Given the description of an element on the screen output the (x, y) to click on. 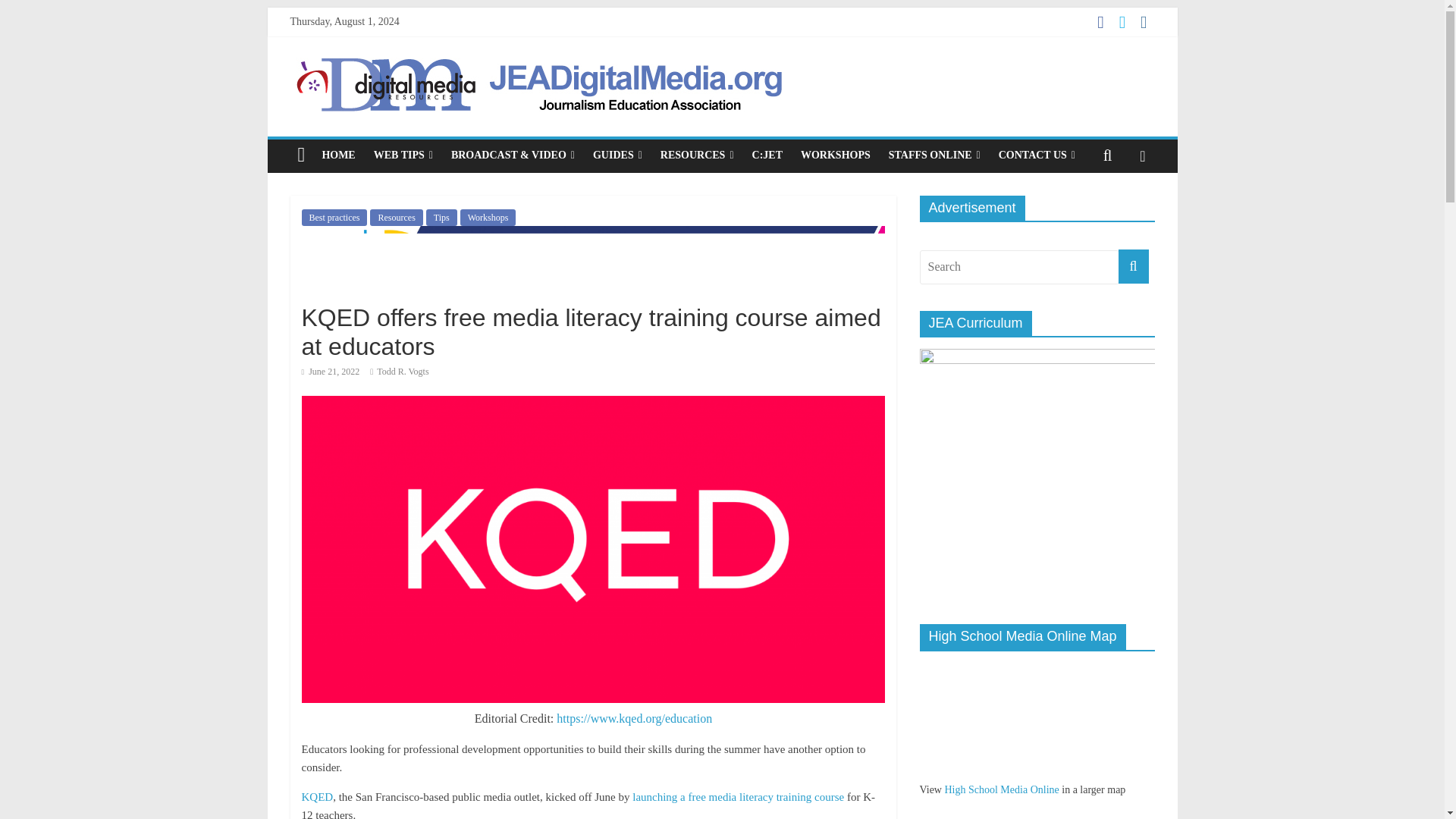
8:00 am (330, 371)
Todd R. Vogts (402, 371)
GUIDES (616, 155)
RESOURCES (696, 155)
HOME (338, 155)
WEB TIPS (403, 155)
